Given the description of an element on the screen output the (x, y) to click on. 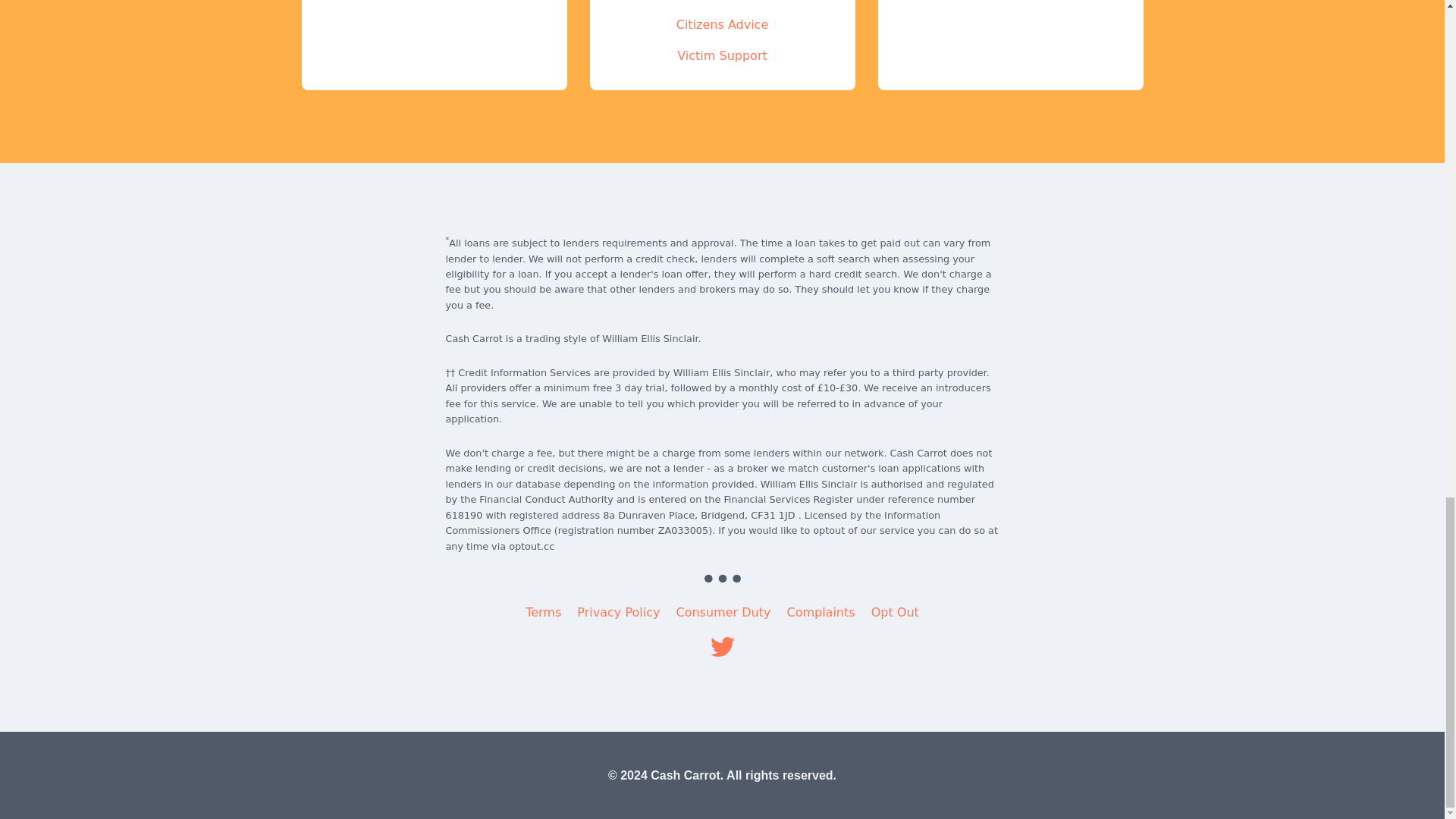
Citizens Advice (722, 24)
Terms (542, 612)
optout.cc (531, 546)
Victim Support (722, 55)
Complaints (820, 612)
Privacy Policy (617, 612)
Opt Out (894, 612)
Consumer Duty (724, 612)
